Given the description of an element on the screen output the (x, y) to click on. 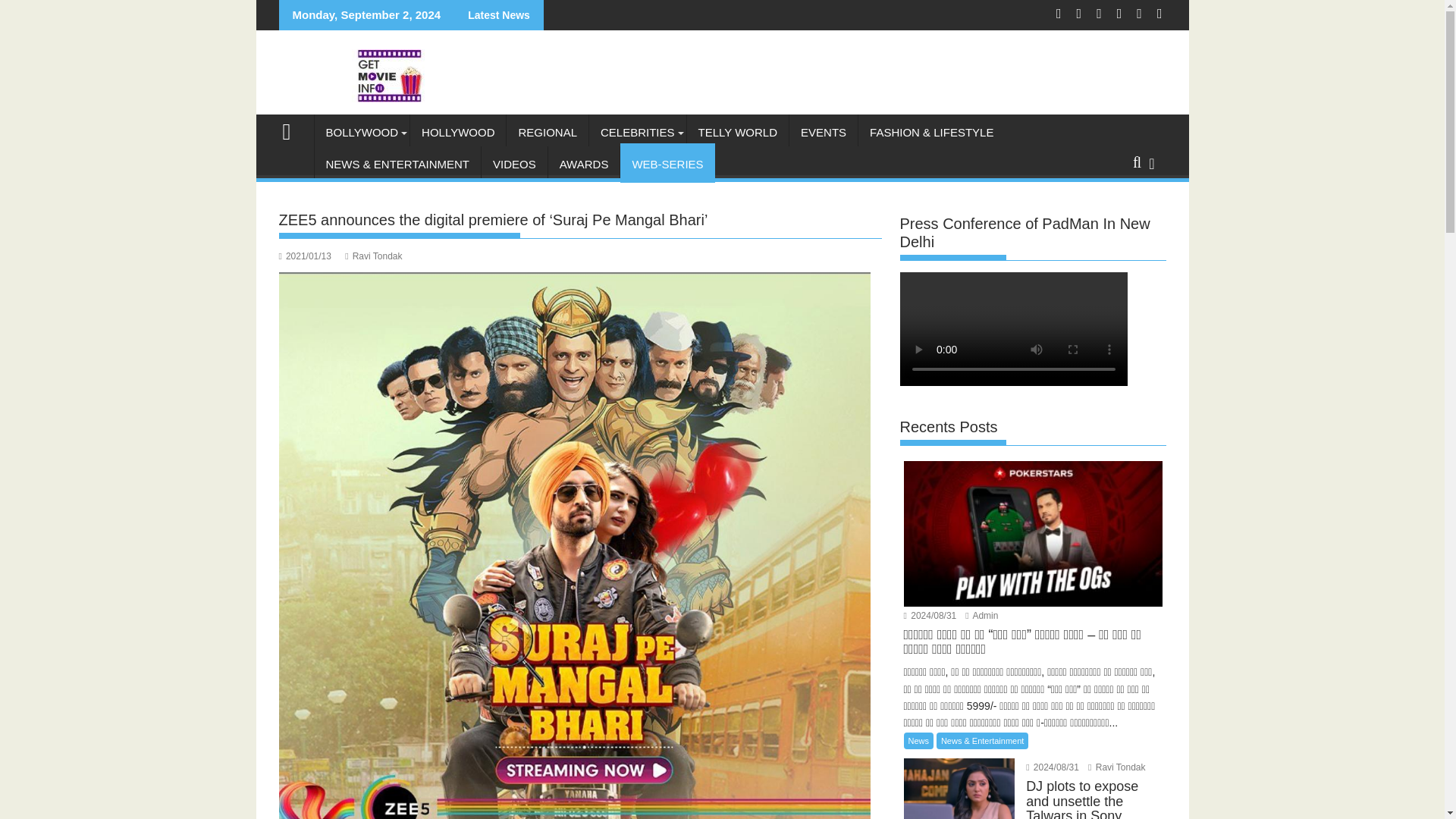
Latest Bollywood News, Movie trailers (293, 129)
CELEBRITIES (637, 132)
Ravi Tondak (1116, 767)
AWARDS (584, 164)
HOLLYWOOD (457, 132)
VIDEOS (514, 164)
TELLY WORLD (738, 132)
Ravi Tondak (373, 255)
WEB-SERIES (667, 164)
BOLLYWOOD (361, 132)
